Given the description of an element on the screen output the (x, y) to click on. 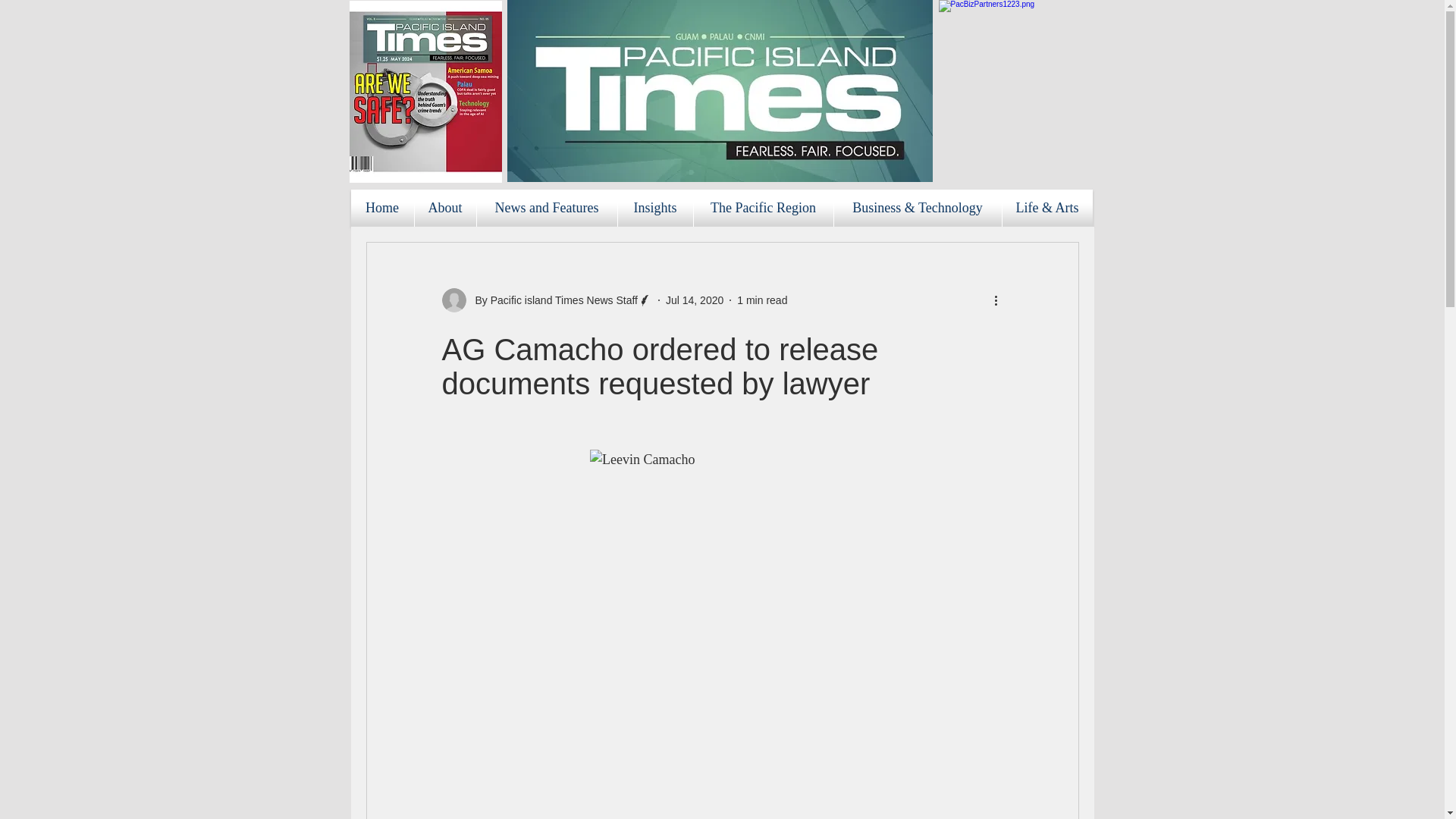
News and Features (545, 207)
The Pacific Region (762, 207)
Jul 14, 2020 (694, 300)
About (444, 207)
Home (381, 207)
1 min read (761, 300)
Insights (655, 207)
By Pacific island Times News Staff (551, 300)
